Given the description of an element on the screen output the (x, y) to click on. 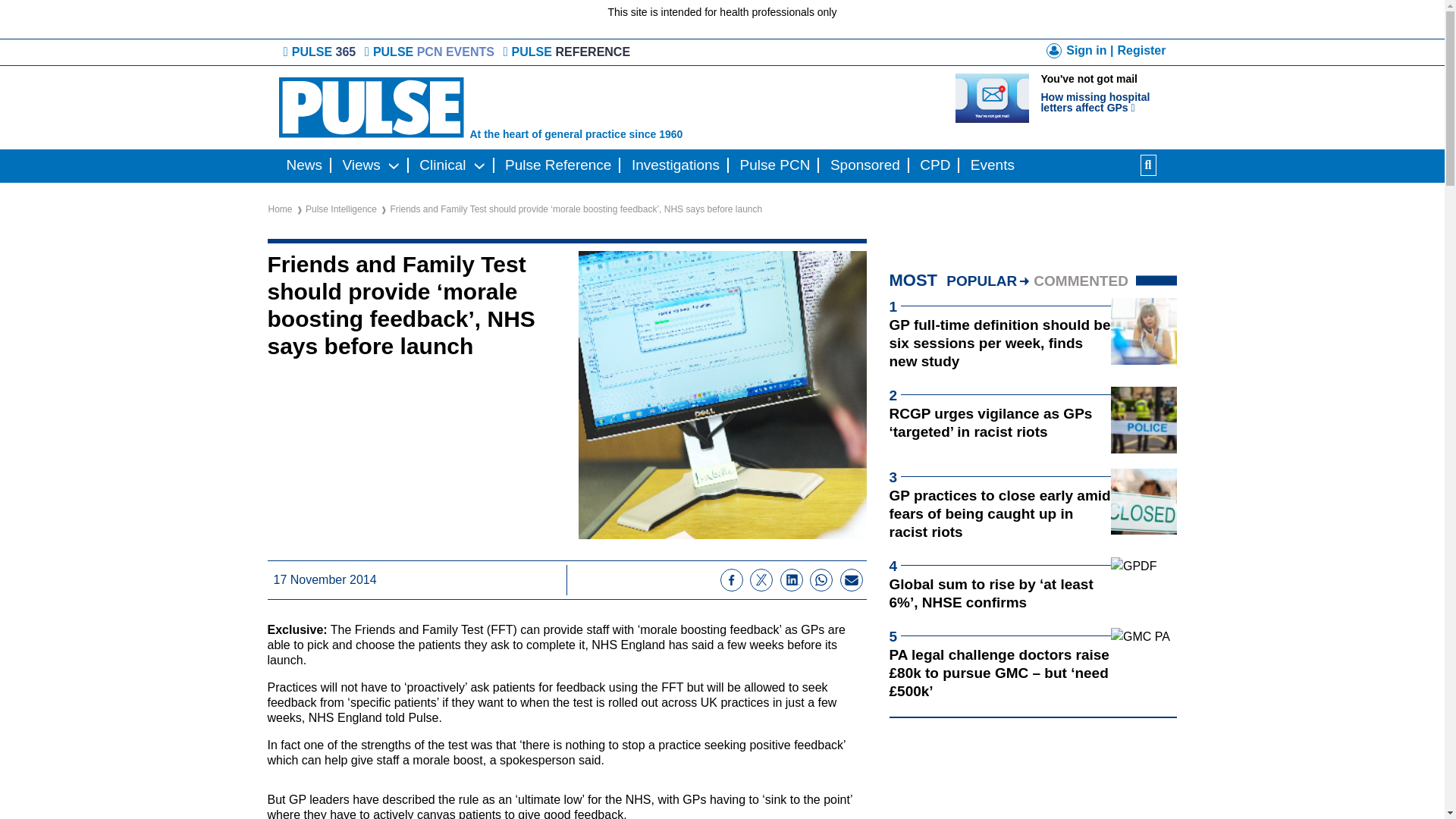
Sponsored (864, 165)
Investigations (675, 165)
PULSE 365 (320, 51)
CPD (935, 165)
Clinical (442, 165)
Pulse PCN (775, 165)
Register (1141, 50)
At the heart of general practice since 1960 (564, 107)
